Given the description of an element on the screen output the (x, y) to click on. 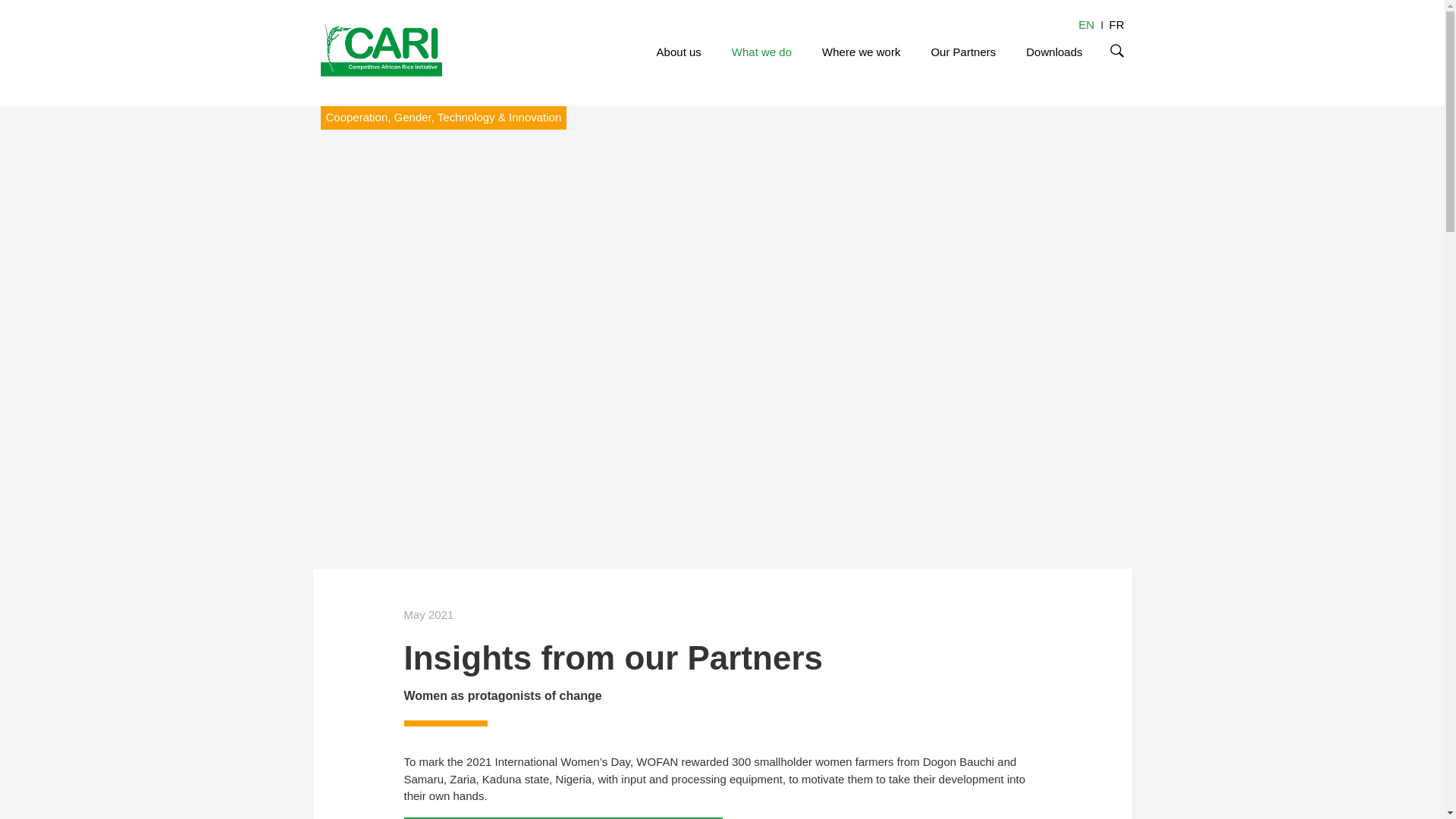
Where we work (860, 51)
About us (678, 51)
Search (1116, 50)
Where we work (860, 51)
Downloads (1053, 51)
Downloads (1053, 51)
What we do (762, 51)
Home (380, 47)
Details (1116, 24)
Our Partners (962, 51)
What we do (762, 51)
About us (678, 51)
Our Partners (962, 51)
FR (1116, 24)
